Given the description of an element on the screen output the (x, y) to click on. 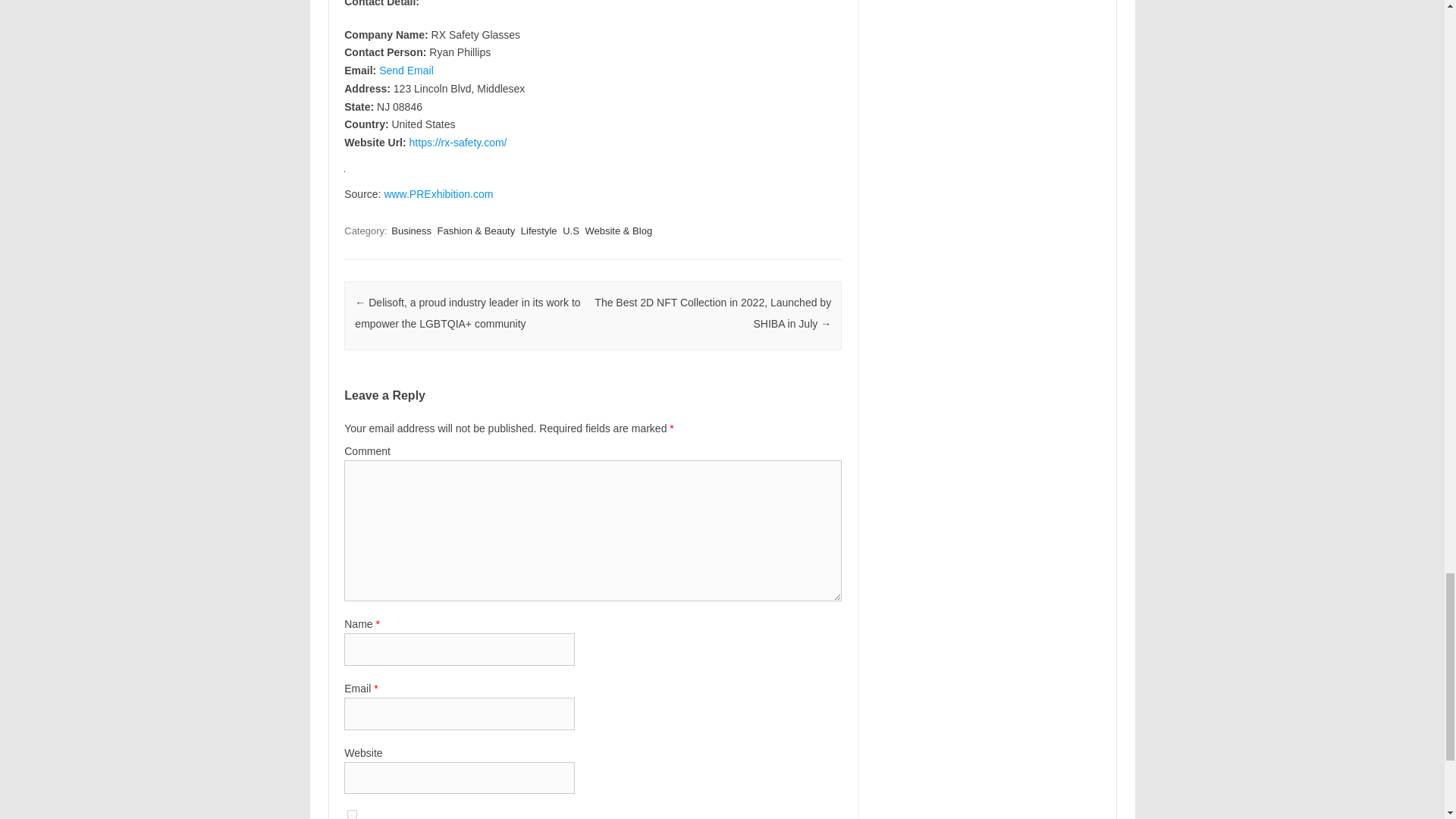
yes (351, 814)
Business (411, 230)
U.S (570, 230)
www.PRExhibition.com (438, 193)
Lifestyle (539, 230)
Send Email (405, 70)
